Given the description of an element on the screen output the (x, y) to click on. 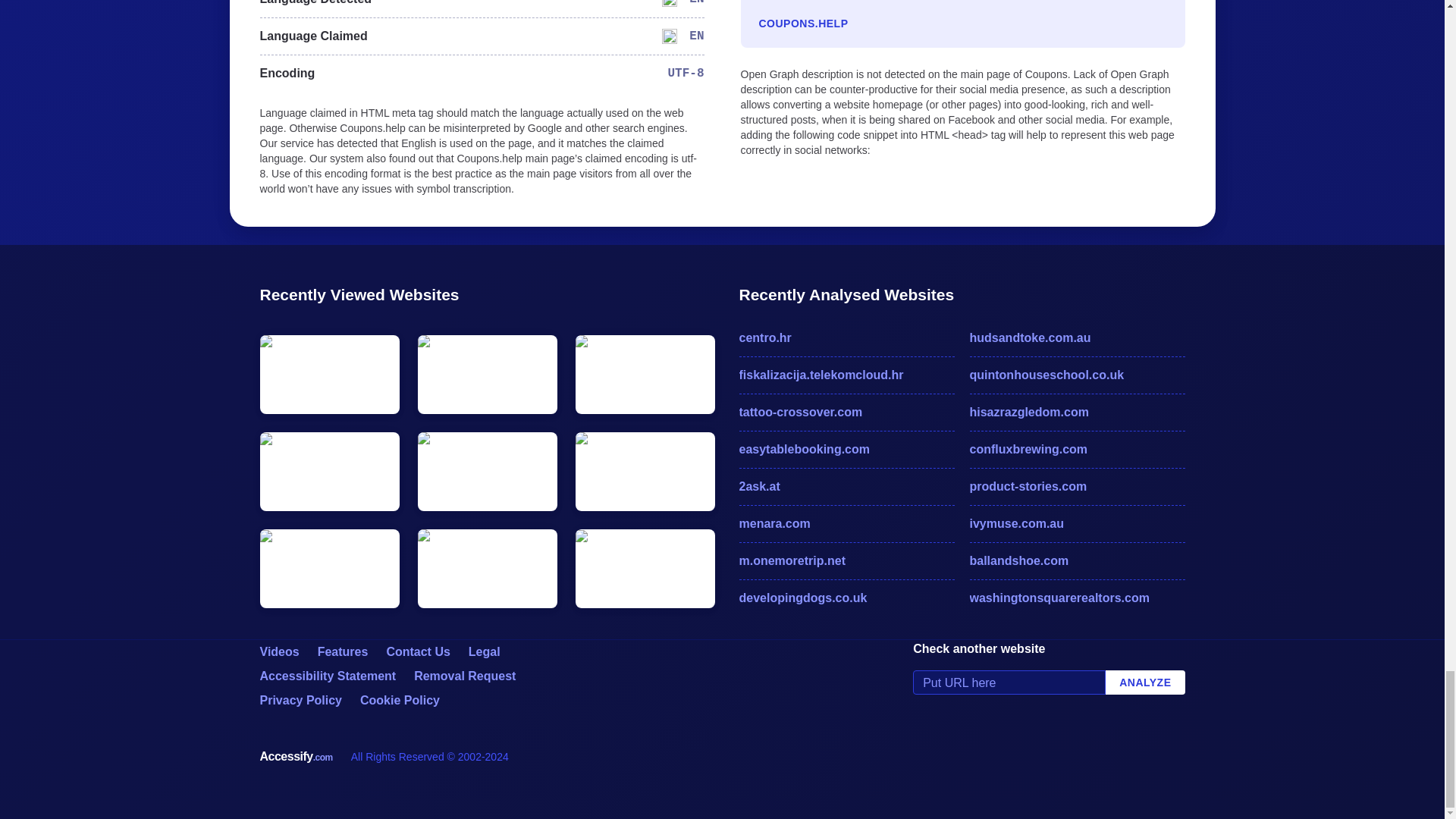
centro.hr (845, 338)
easytablebooking.com (845, 449)
menara.com (845, 524)
m.onemoretrip.net (845, 561)
quintonhouseschool.co.uk (1077, 375)
2ask.at (845, 486)
hisazrazgledom.com (1077, 412)
fiskalizacija.telekomcloud.hr (845, 375)
tattoo-crossover.com (845, 412)
